Given the description of an element on the screen output the (x, y) to click on. 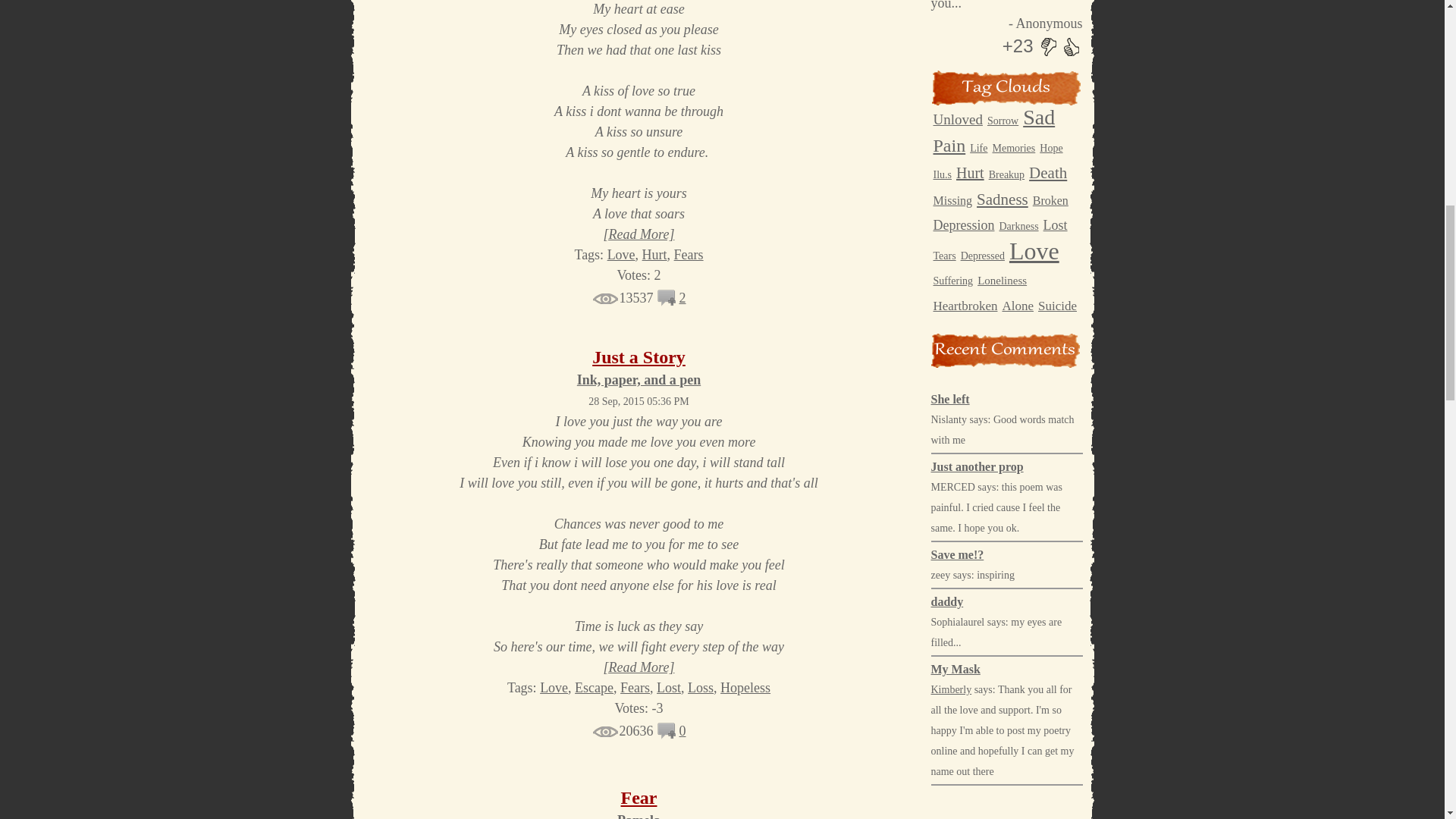
Total Visited 13537 Times (621, 297)
Ink, paper, and a pen (638, 379)
Just a Story (638, 356)
Post a comment (667, 301)
Fears (688, 254)
Escape (593, 687)
Love (620, 254)
Lost (668, 687)
Fears (634, 687)
Read Comments (682, 730)
Hurt (654, 254)
Read Comments (682, 297)
2 (682, 297)
Total Visited 20636 Times (621, 730)
Loss (700, 687)
